Given the description of an element on the screen output the (x, y) to click on. 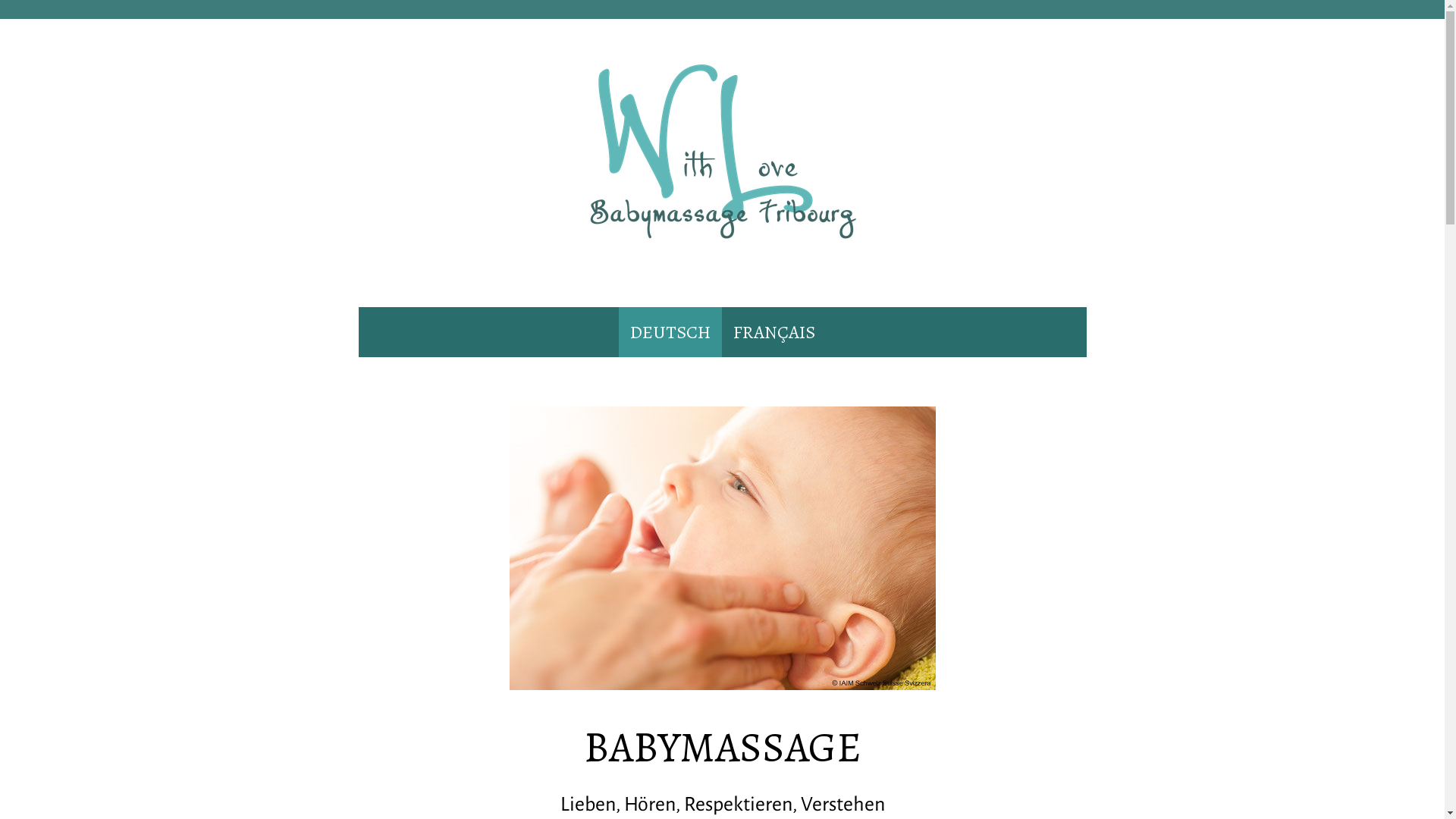
DEUTSCH Element type: text (669, 332)
